Given the description of an element on the screen output the (x, y) to click on. 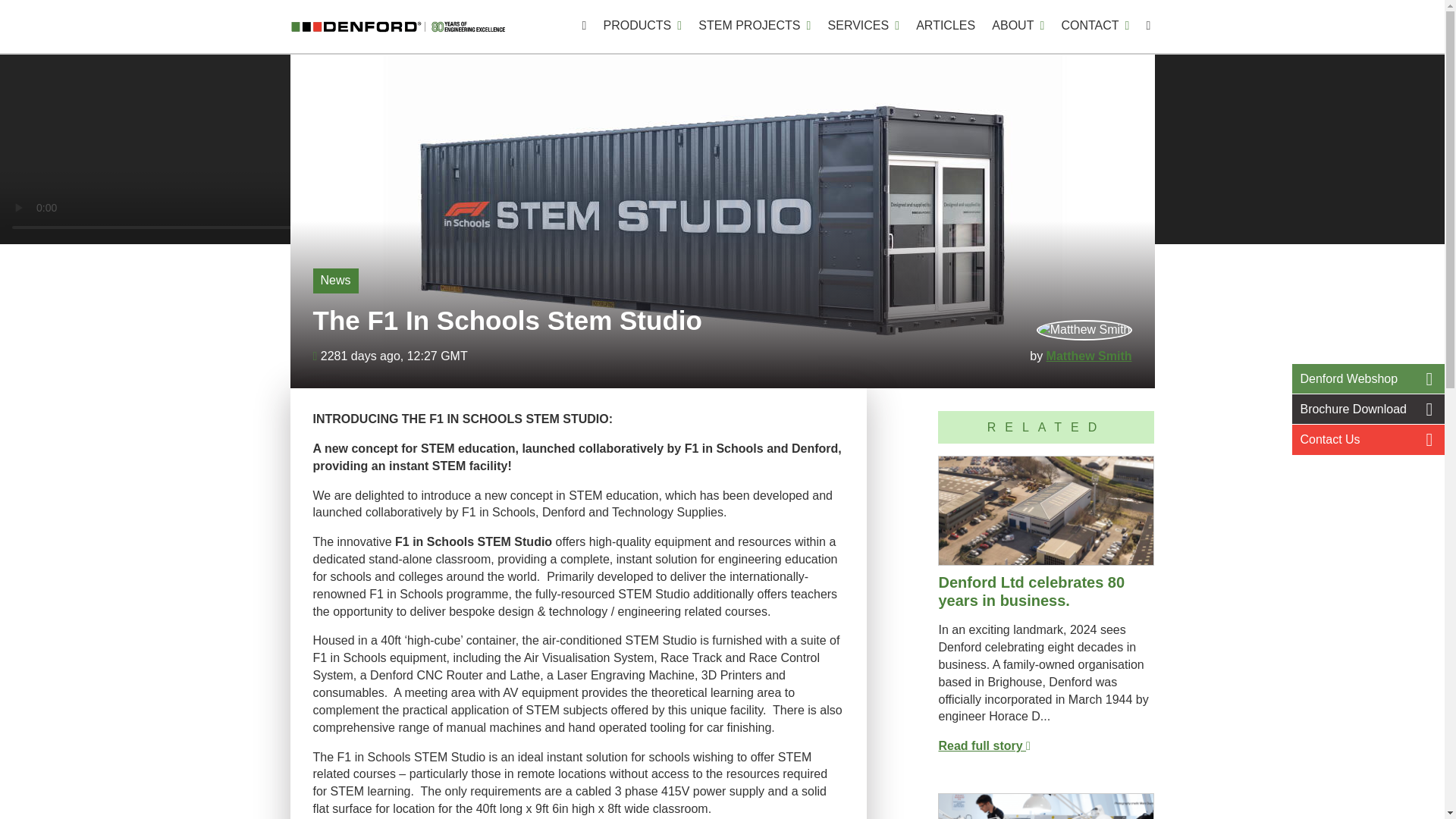
Denford Ltd CNC Technology Supplies (397, 26)
PRODUCTS (641, 26)
